Given the description of an element on the screen output the (x, y) to click on. 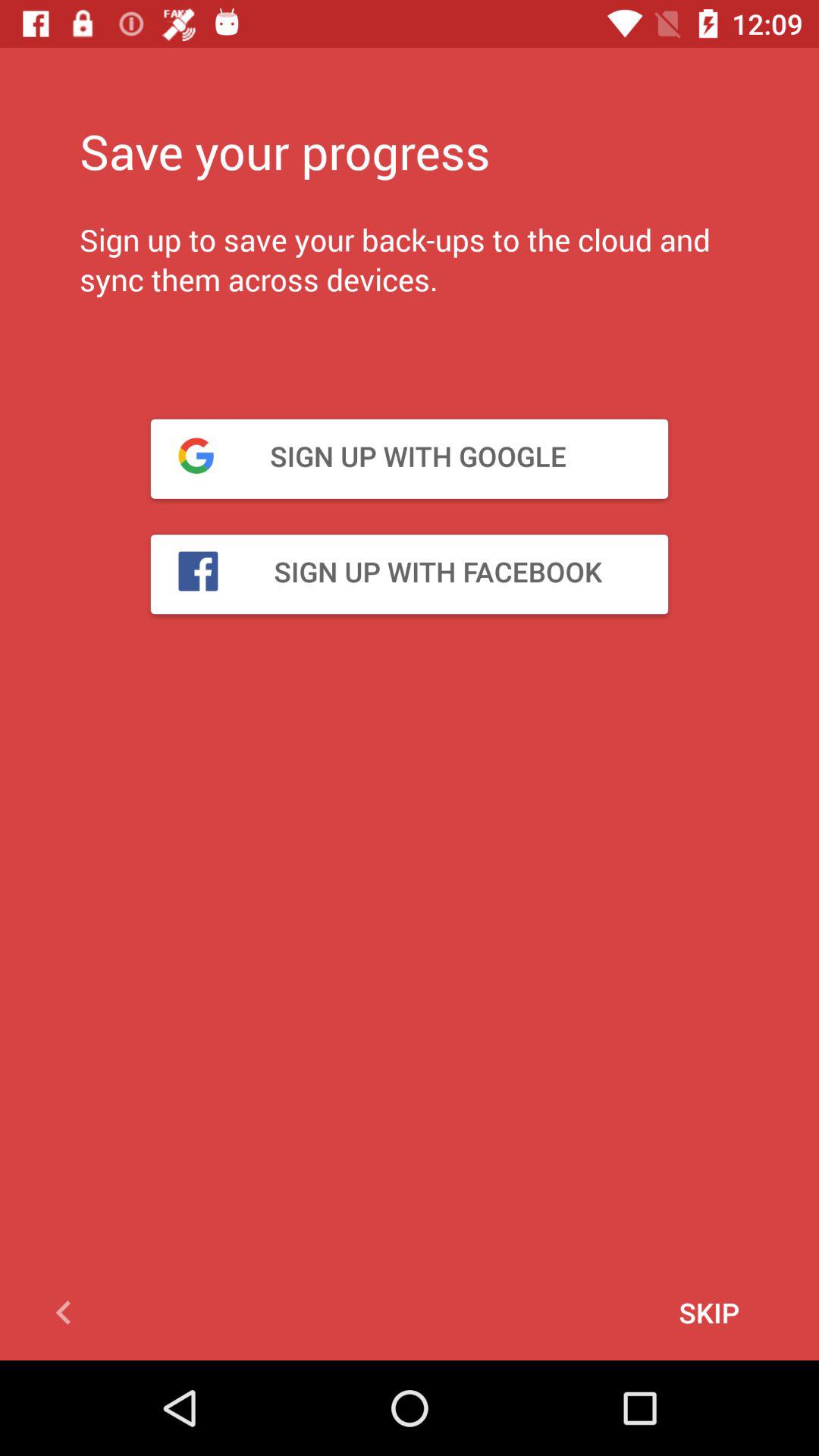
go back (75, 1312)
